Given the description of an element on the screen output the (x, y) to click on. 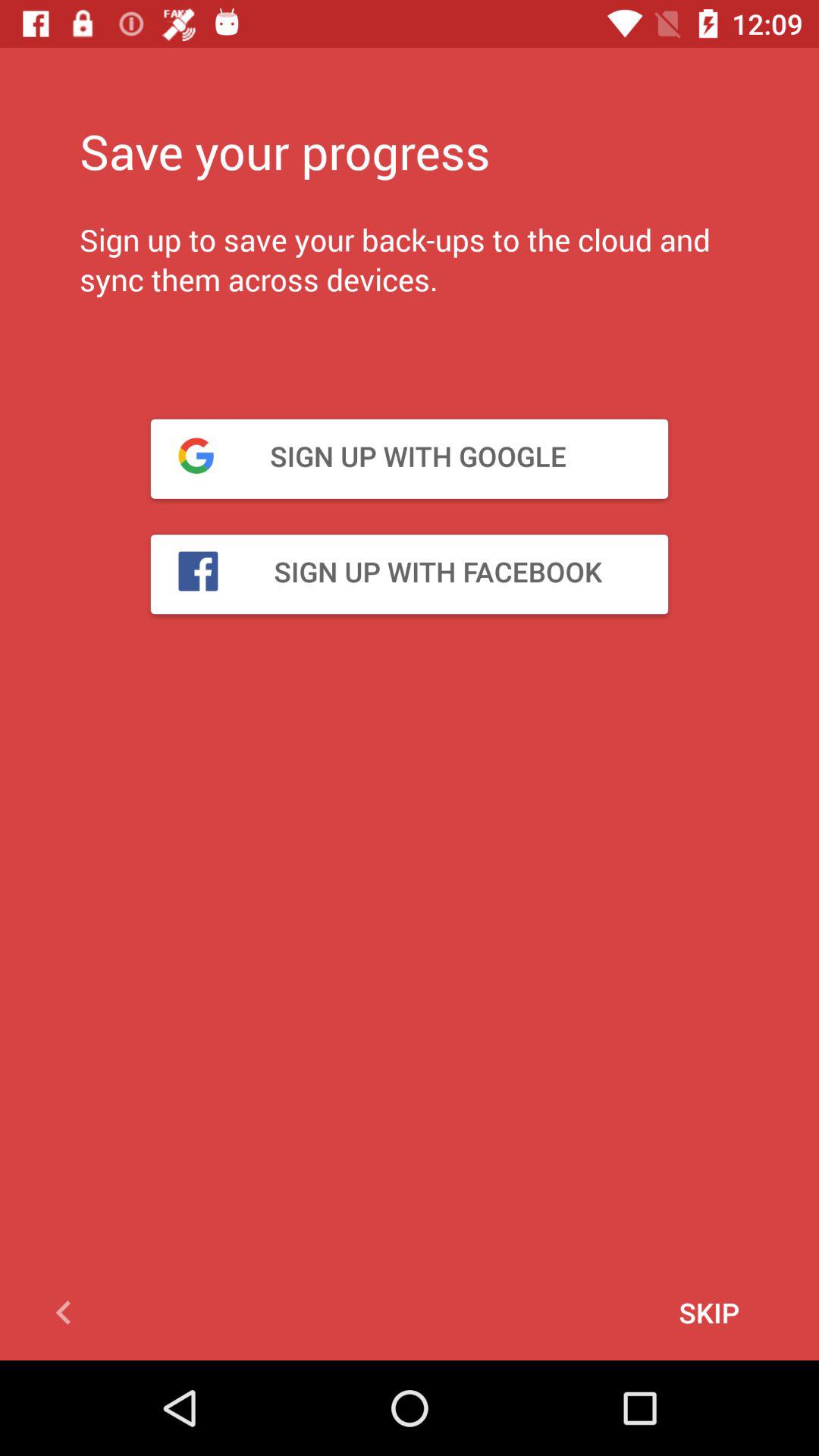
go back (75, 1312)
